Given the description of an element on the screen output the (x, y) to click on. 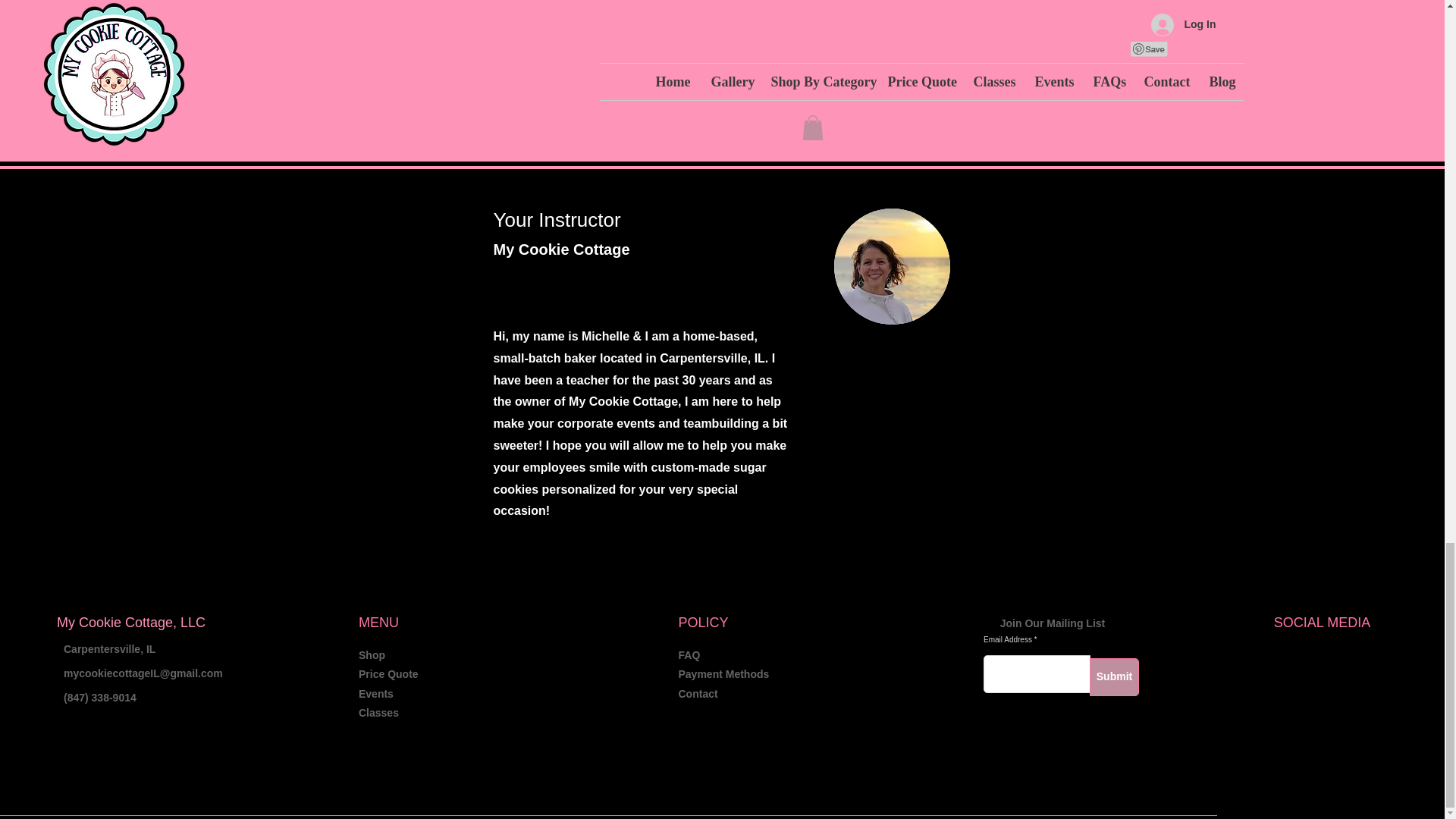
Submit (1113, 677)
Classes (378, 712)
Contact (697, 693)
Events (375, 693)
Price Quote (388, 674)
FAQ (689, 654)
